Given the description of an element on the screen output the (x, y) to click on. 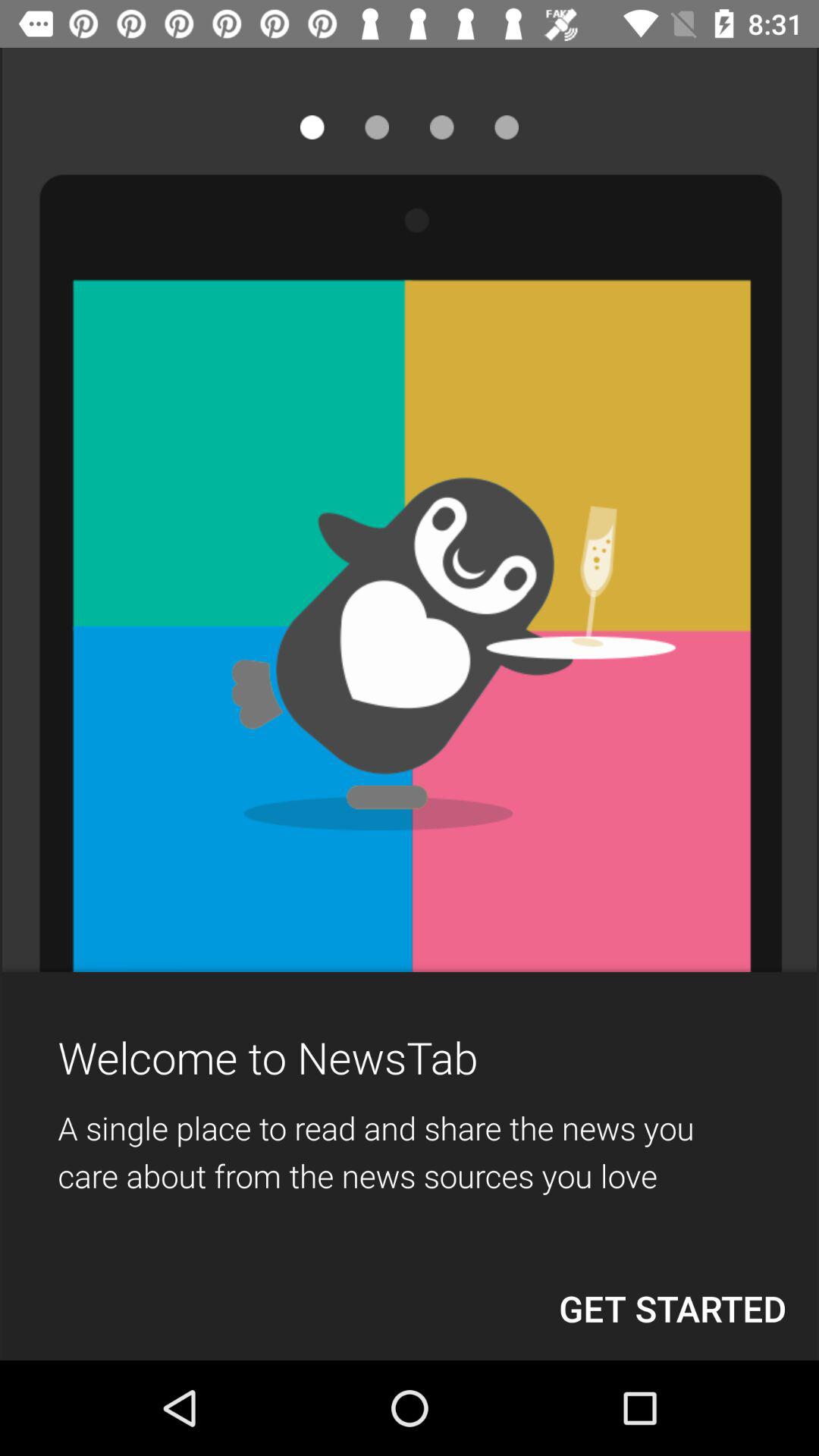
turn on get started icon (672, 1308)
